Given the description of an element on the screen output the (x, y) to click on. 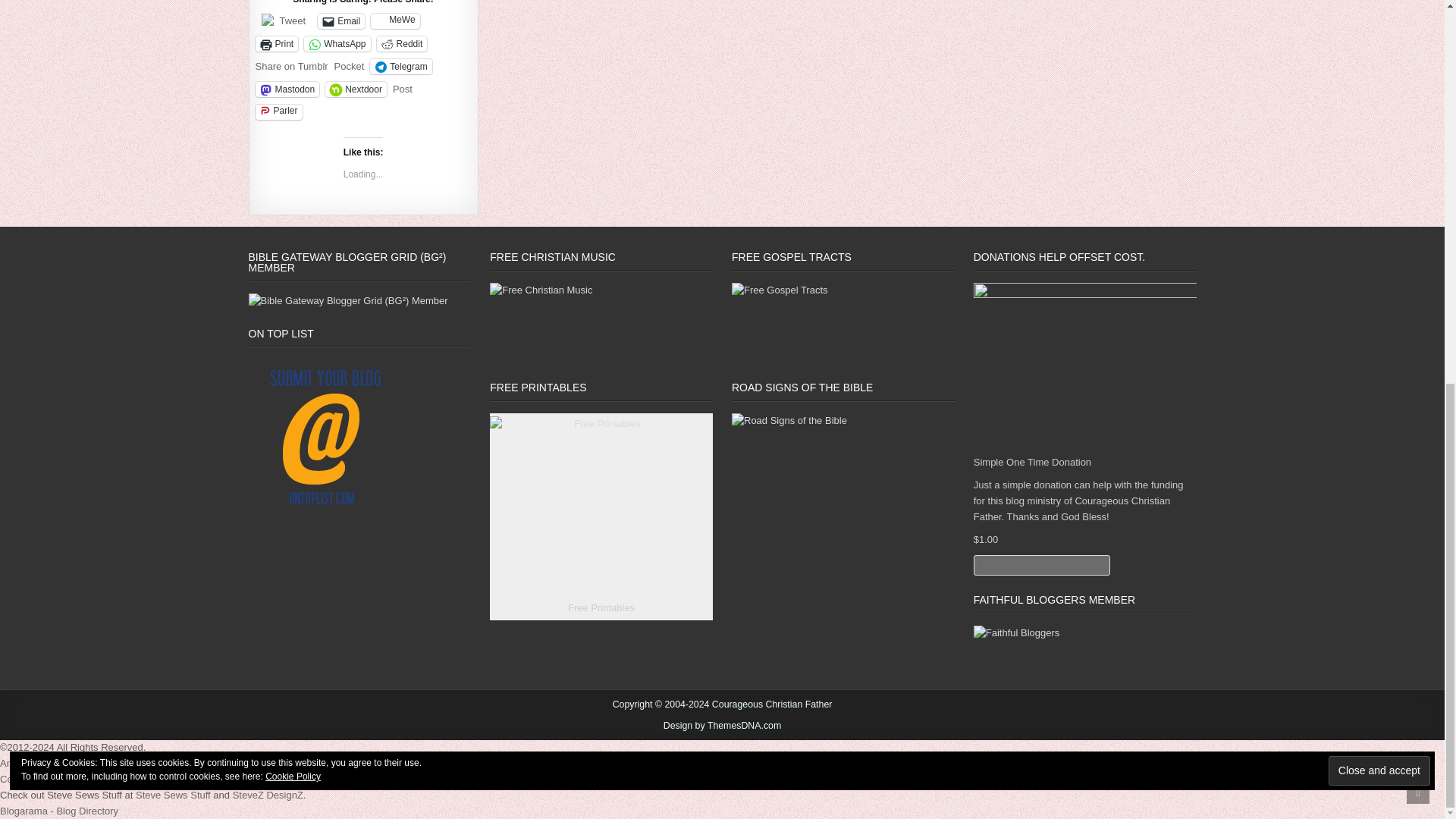
Telegram (399, 66)
Reddit (402, 43)
Share on Tumblr (290, 65)
Click to share on MeWe (395, 20)
Close and accept (1378, 51)
Click to share on Reddit (402, 43)
Click to share on WhatsApp (336, 43)
Scroll to Top (1417, 72)
Click to email a link to a friend (341, 20)
Pocket (349, 66)
